Given the description of an element on the screen output the (x, y) to click on. 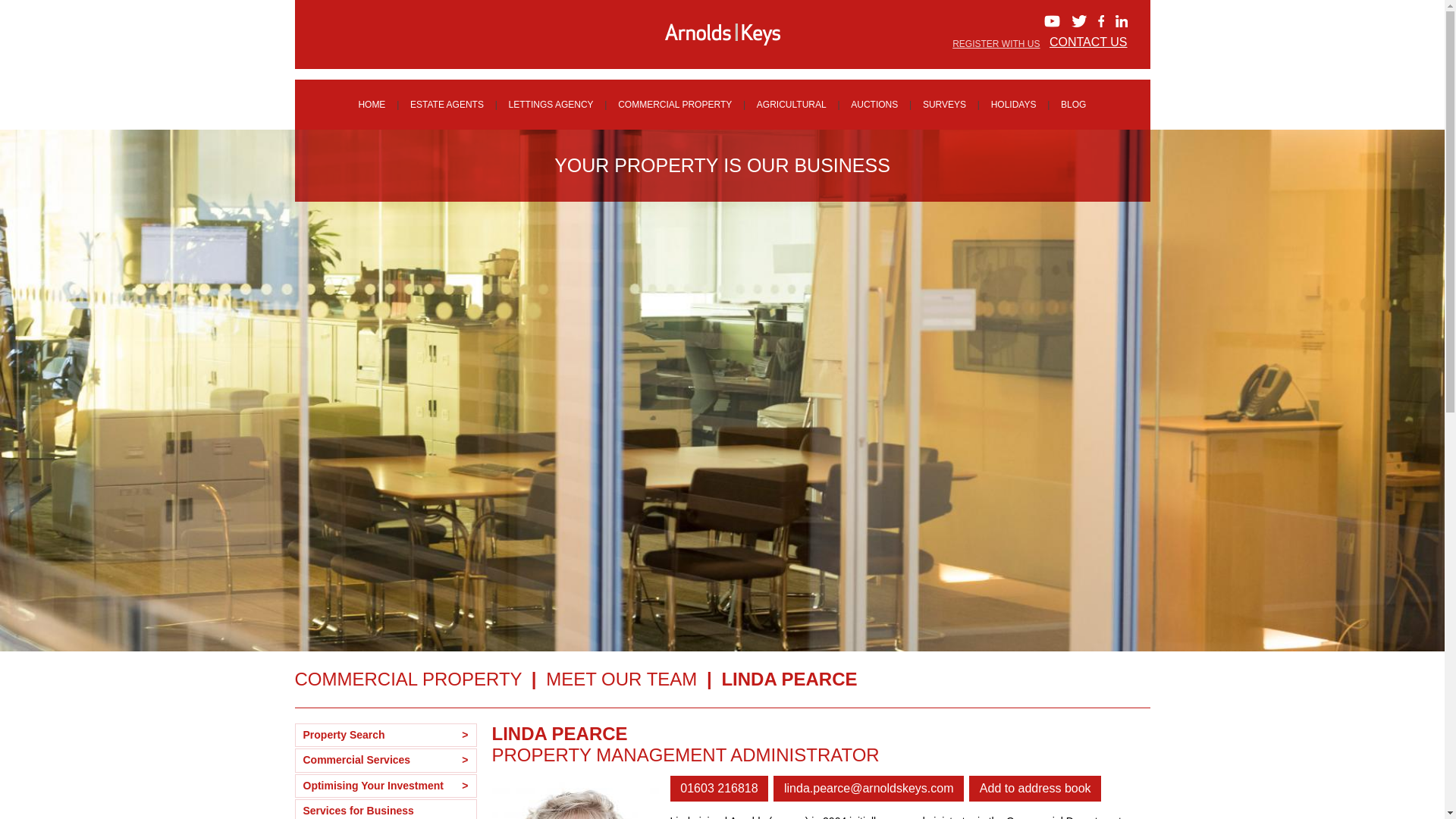
LETTINGS AGENCY (550, 104)
YouTube (1051, 21)
ESTATE AGENTS (446, 104)
CONTACT US (1087, 42)
COMMERCIAL PROPERTY (674, 104)
LinkedIn (1120, 21)
REGISTER WITH US (995, 43)
Twitter (1078, 21)
HOME (370, 104)
Arnolds Keys (722, 34)
